Given the description of an element on the screen output the (x, y) to click on. 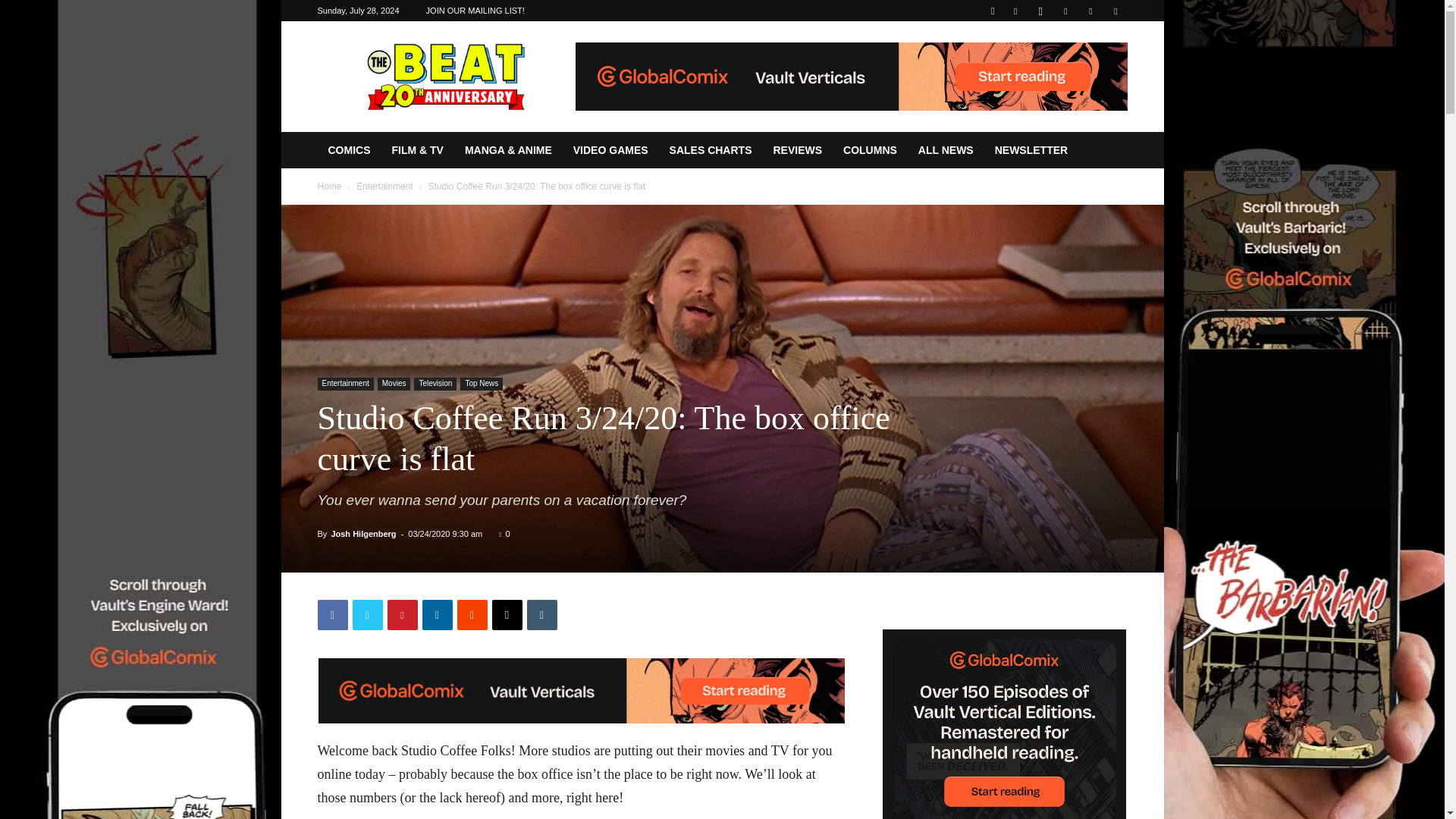
COLUMNS (869, 149)
Facebook (332, 614)
Facebook (1015, 10)
VIDEO GAMES (610, 149)
Twitter (366, 614)
Instagram (1040, 10)
ALL NEWS (945, 149)
REVIEWS (796, 149)
Youtube (1114, 10)
NEWSLETTER (1031, 149)
Linkedin (436, 614)
SALES CHARTS (710, 149)
View all posts in Entertainment (384, 185)
Pinterest (401, 614)
Twitter (1090, 10)
